Given the description of an element on the screen output the (x, y) to click on. 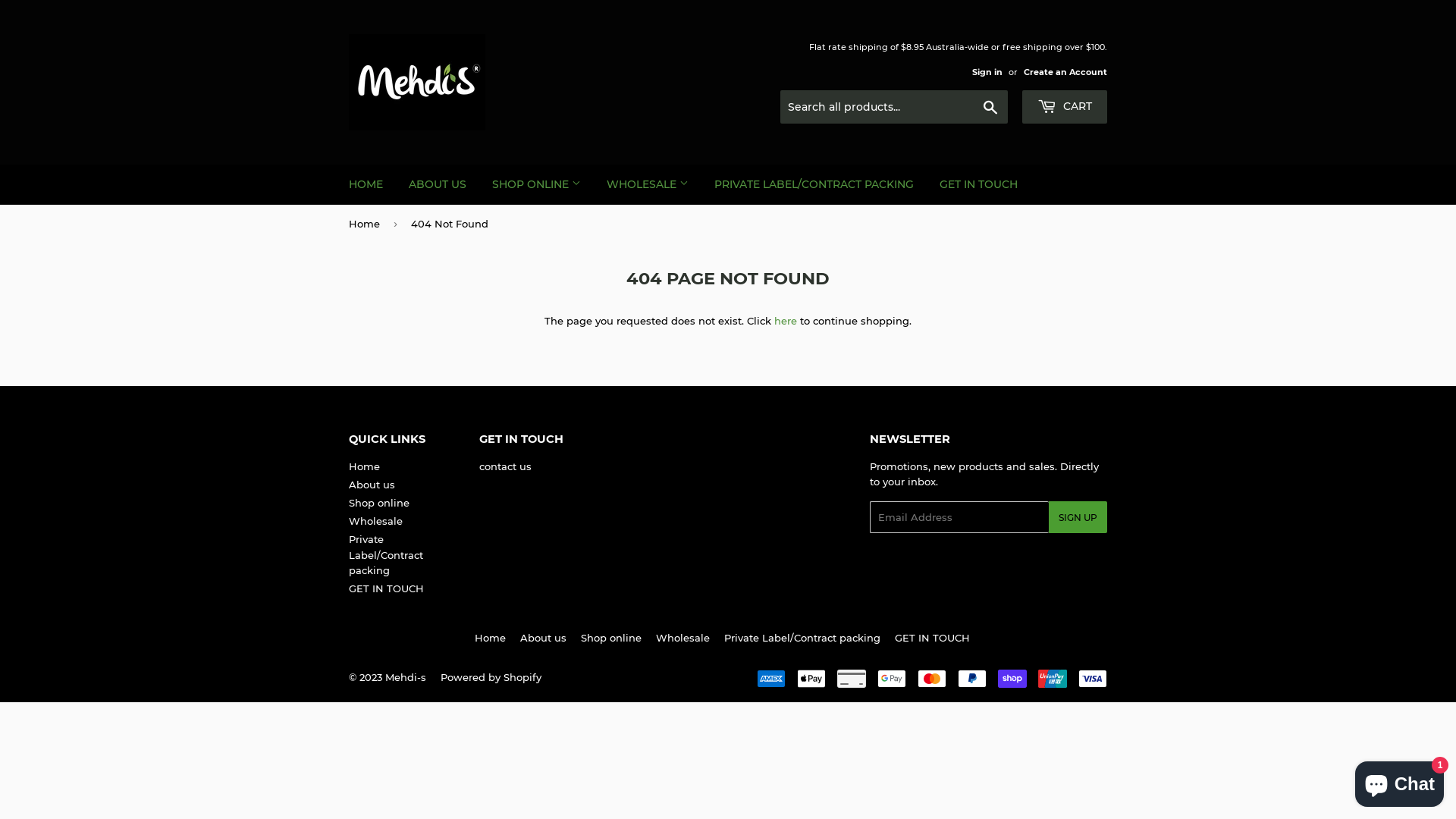
CART Element type: text (1064, 106)
ABOUT US Element type: text (437, 183)
Shopify online store chat Element type: hover (1399, 780)
SIGN UP Element type: text (1077, 517)
GET IN TOUCH Element type: text (978, 183)
Shop online Element type: text (378, 502)
here Element type: text (785, 320)
Powered by Shopify Element type: text (490, 677)
Private Label/Contract packing Element type: text (385, 555)
SHOP ONLINE Element type: text (536, 183)
Mehdi-s Element type: text (405, 677)
Create an Account Element type: text (1065, 71)
Private Label/Contract packing Element type: text (802, 637)
WHOLESALE Element type: text (647, 183)
Home Element type: text (489, 637)
GET IN TOUCH Element type: text (931, 637)
HOME Element type: text (365, 183)
PRIVATE LABEL/CONTRACT PACKING Element type: text (813, 183)
Home Element type: text (363, 466)
Sign in Element type: text (987, 71)
Wholesale Element type: text (682, 637)
About us Element type: text (371, 484)
Shop online Element type: text (610, 637)
GET IN TOUCH Element type: text (385, 588)
Home Element type: text (366, 223)
Search Element type: text (990, 107)
Wholesale Element type: text (375, 520)
About us Element type: text (543, 637)
